Given the description of an element on the screen output the (x, y) to click on. 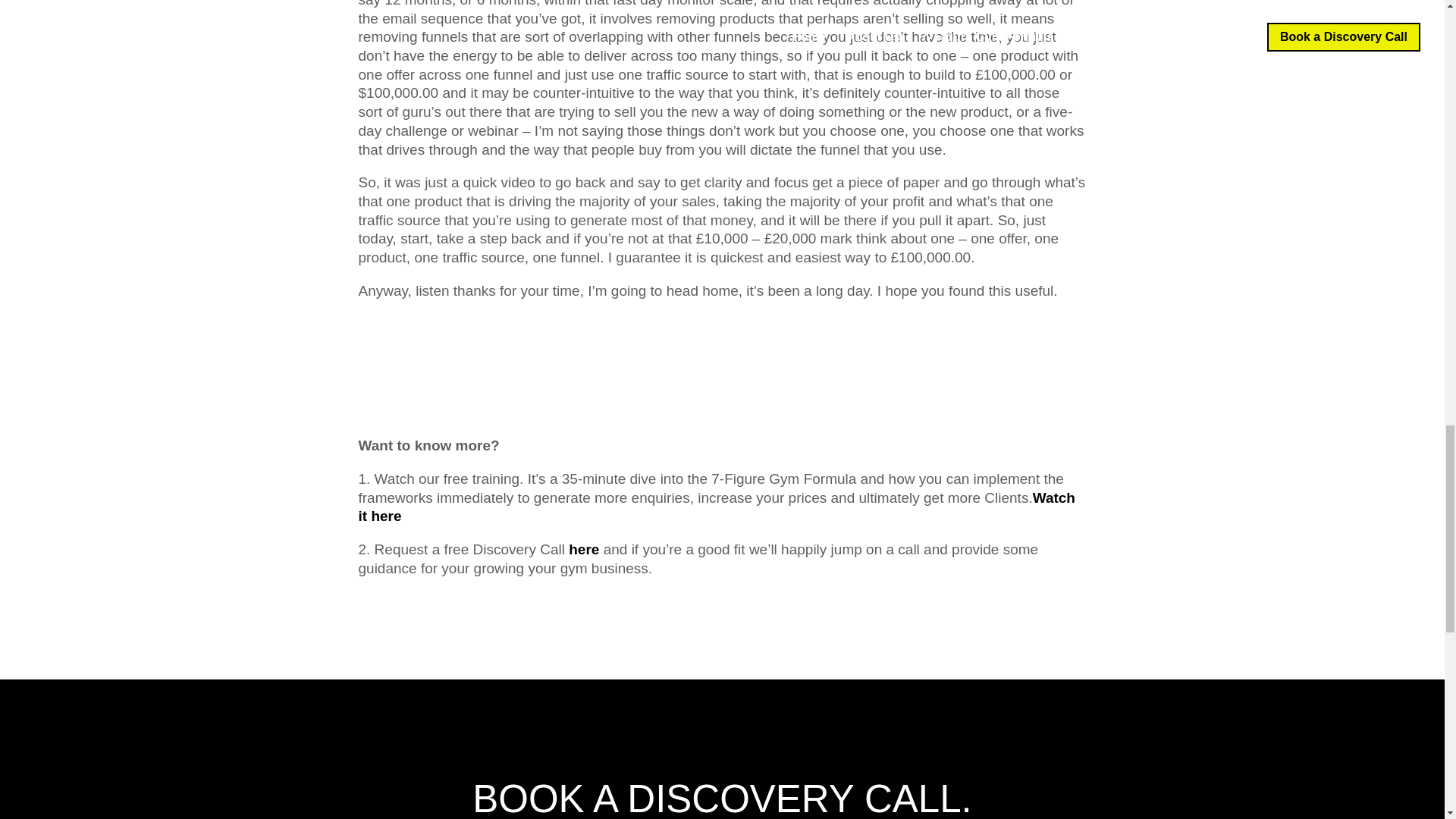
Watch it here (716, 506)
here (585, 549)
